Given the description of an element on the screen output the (x, y) to click on. 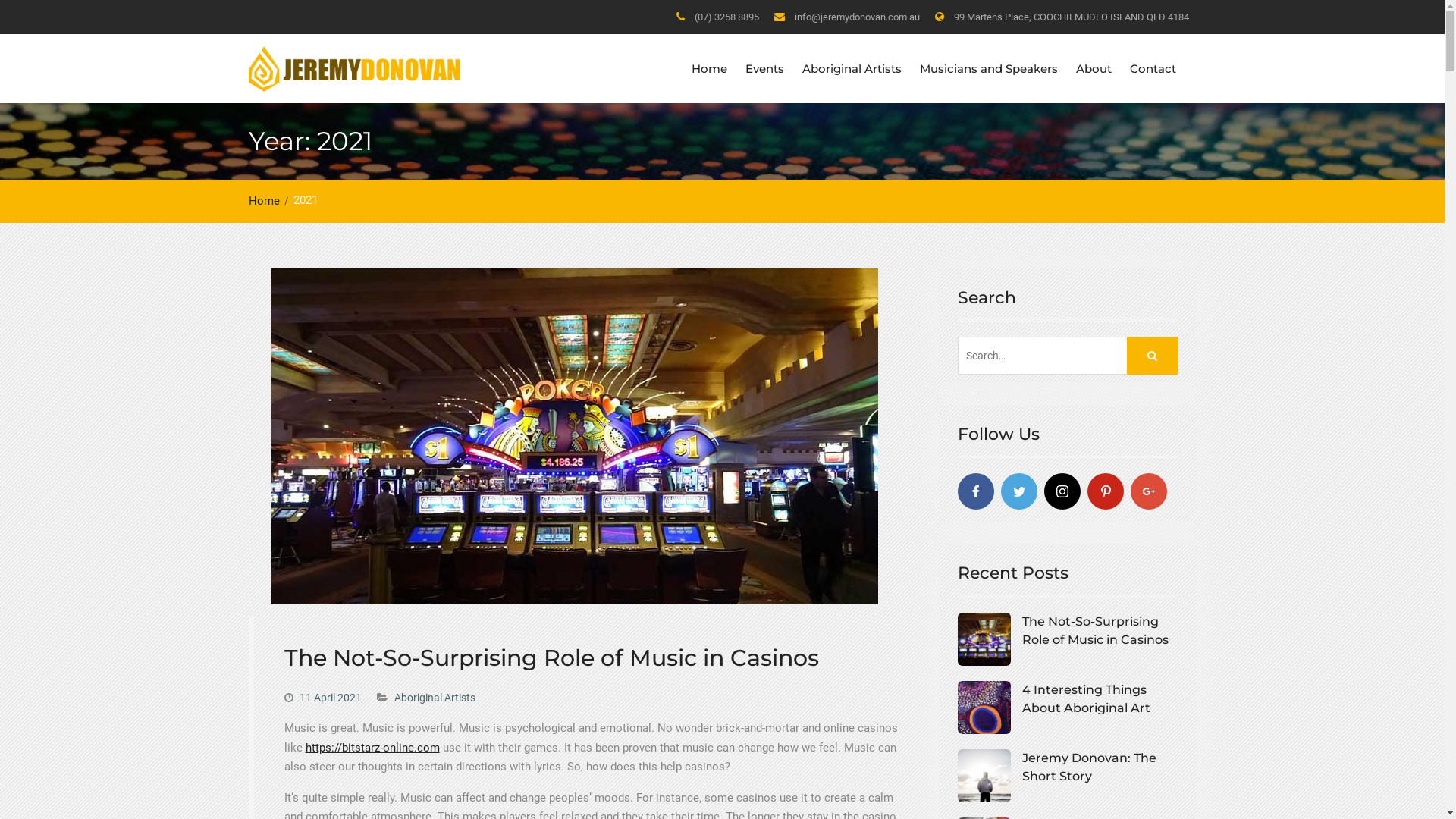
Home Element type: text (268, 200)
11 April 2021 Element type: text (329, 697)
4 Interesting Things About Aboriginal Art Element type: text (1066, 698)
Events Element type: text (763, 68)
Aboriginal Artists Element type: text (851, 68)
pinterest Element type: text (1105, 491)
info@jeremydonovan.com.au Element type: text (856, 17)
https://bitstarz-online.com Element type: text (371, 747)
The Not-So-Surprising Role of Music in Casinos Element type: text (1066, 630)
The Not-So-Surprising Role of Music in Casinos Element type: text (550, 657)
Home Element type: text (709, 68)
twitter Element type: text (1019, 491)
facebook Element type: text (975, 491)
Jeremy Donovan: The Short Story Element type: text (1066, 767)
Aboriginal Artists Element type: text (434, 697)
(07) 3258 8895 Element type: text (726, 17)
Musicians and Speakers Element type: text (988, 68)
instagram Element type: text (1061, 491)
googleplus Element type: text (1147, 491)
About Element type: text (1093, 68)
Contact Element type: text (1152, 68)
Search for: Element type: hover (1066, 355)
